Given the description of an element on the screen output the (x, y) to click on. 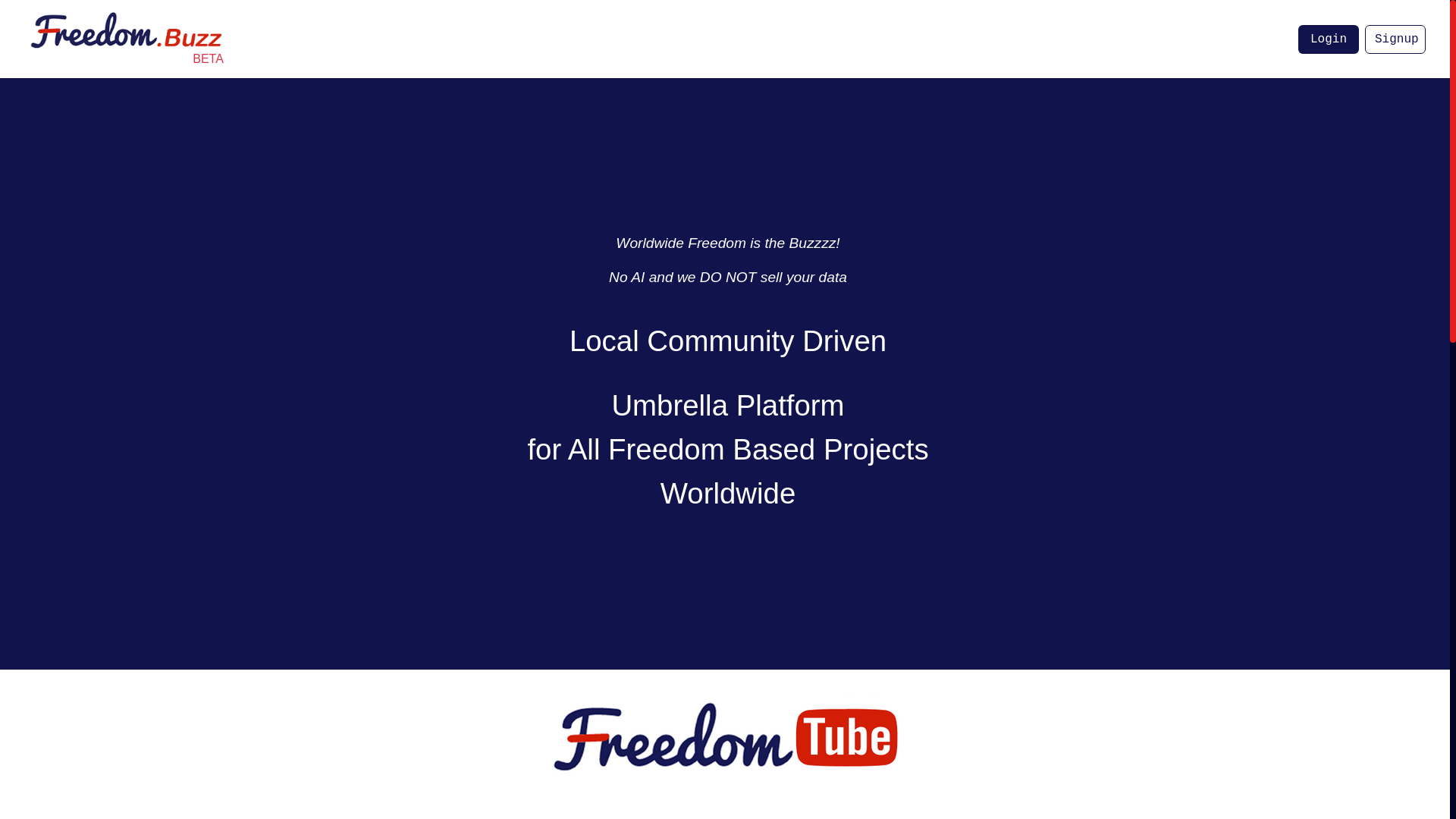
Login Element type: text (1328, 39)
Signup Element type: text (1395, 39)
